Given the description of an element on the screen output the (x, y) to click on. 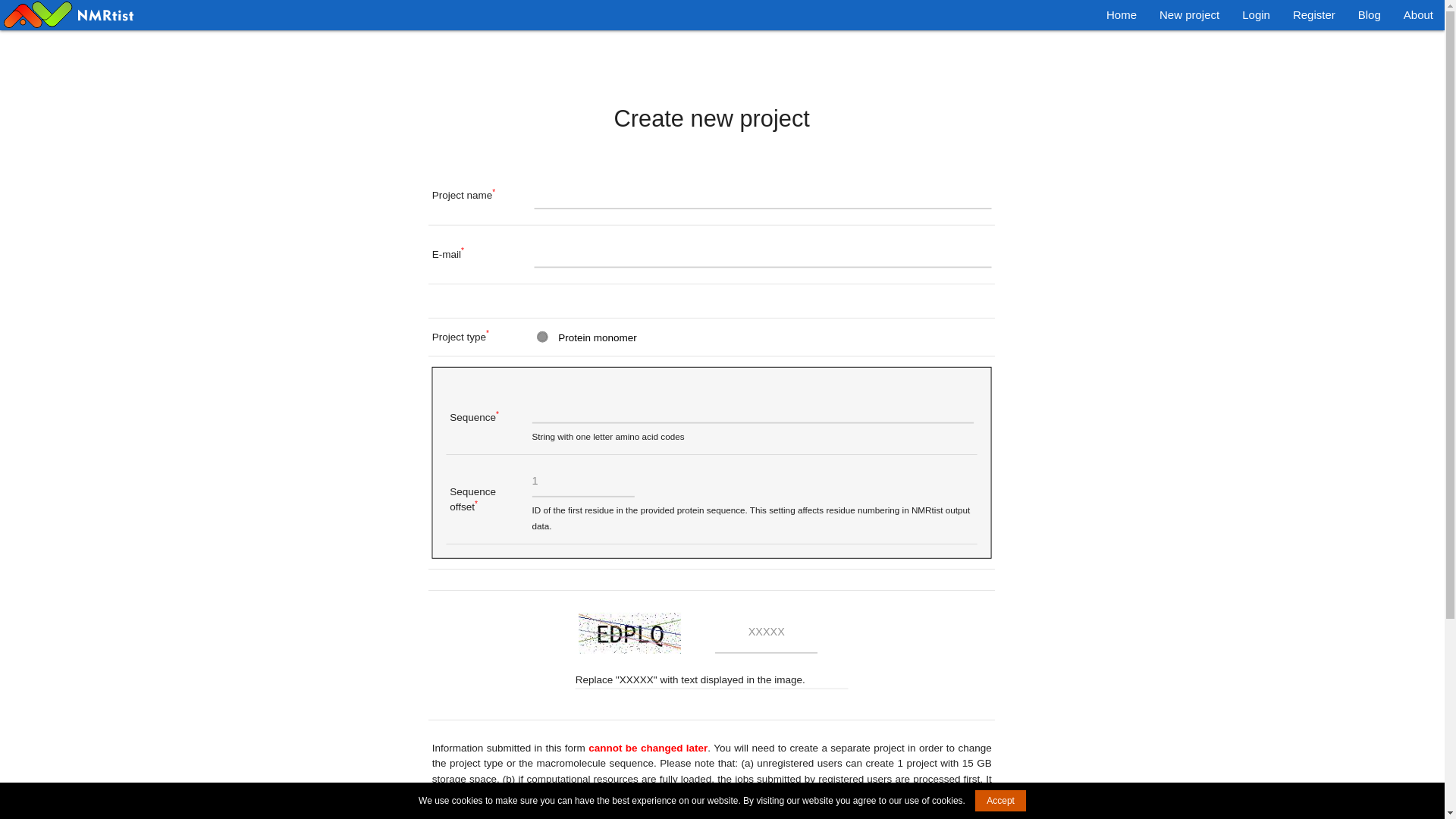
Login (1255, 15)
Home (1121, 15)
1 (589, 483)
terms and conditions (654, 816)
XXXXX (772, 634)
New project (1189, 15)
Register (1313, 15)
Blog (1368, 15)
Accept (1000, 800)
